Given the description of an element on the screen output the (x, y) to click on. 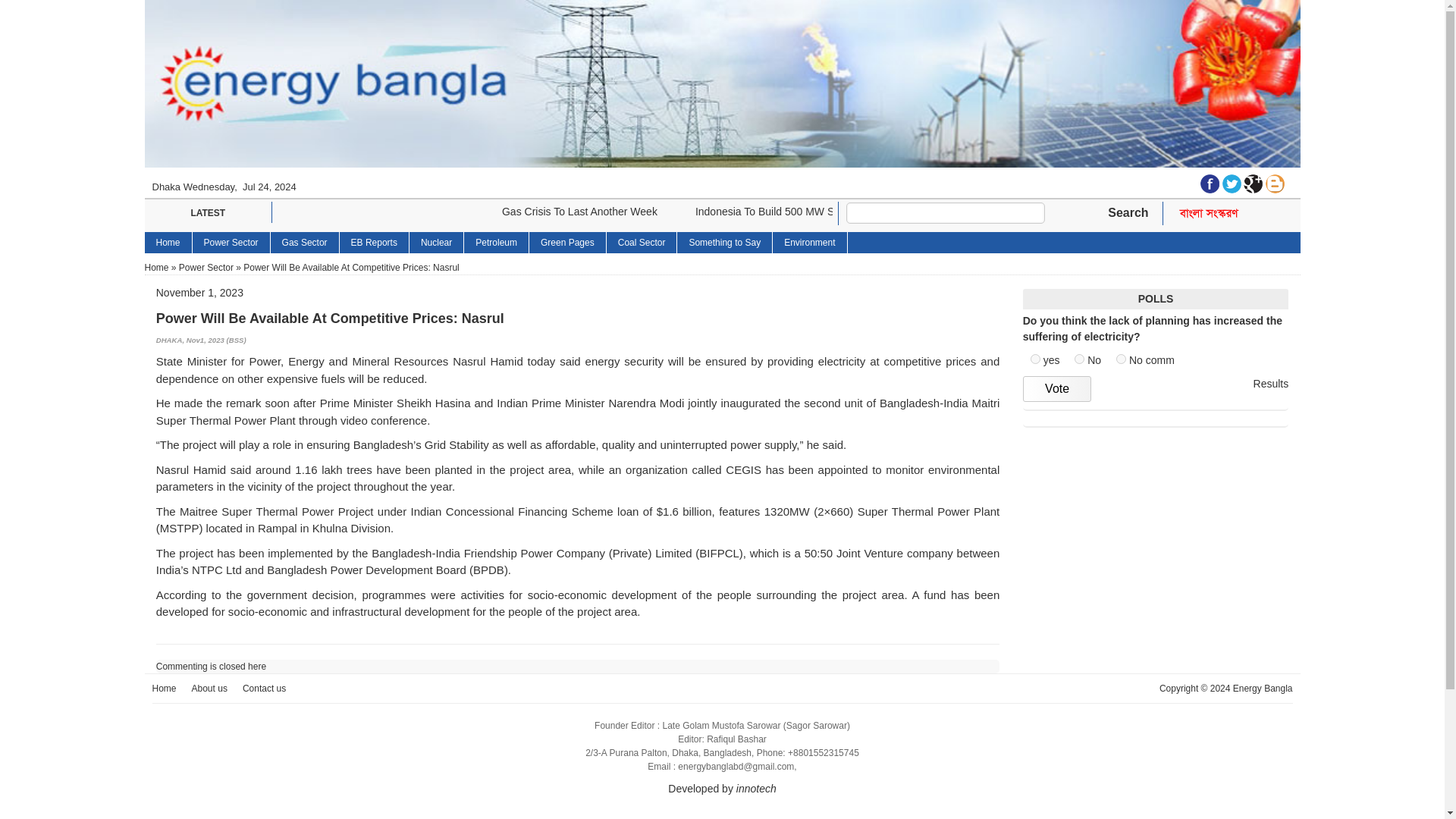
   Vote    (1057, 388)
Petroleum (496, 242)
Green Pages (568, 242)
Gas Crisis To Last Another Week (580, 211)
View Results Of This Poll (1270, 383)
Something to Say (725, 242)
208 (1120, 358)
Search (1128, 213)
Search (1128, 213)
Gas Sector (304, 242)
Environment (810, 242)
Power Sector (231, 242)
Power Sector (205, 267)
Home (168, 242)
EB Reports (374, 242)
